Given the description of an element on the screen output the (x, y) to click on. 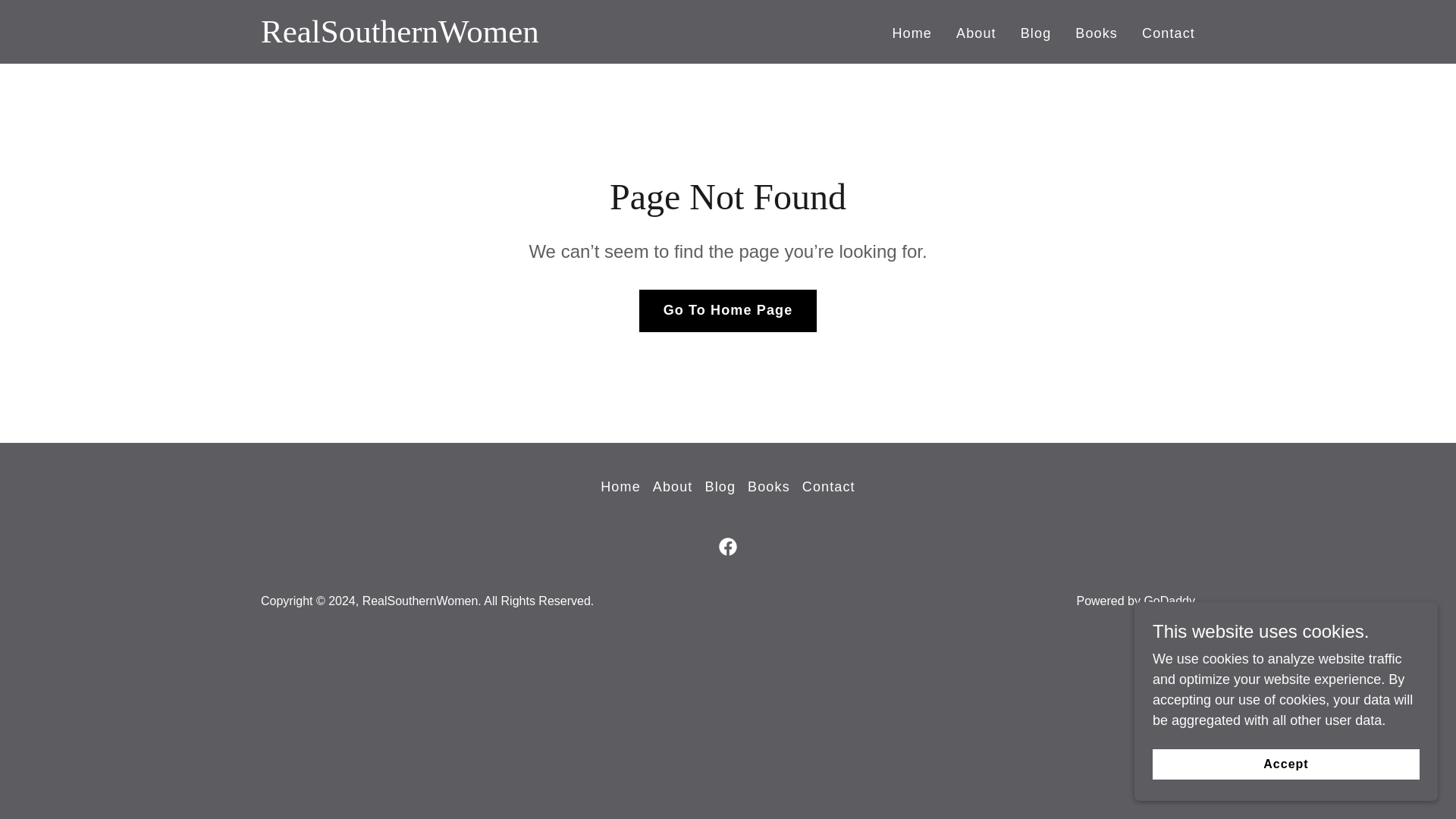
RealSouthernWomen (399, 37)
Blog (1036, 32)
Accept (1286, 764)
About (672, 487)
GoDaddy (1168, 600)
Go To Home Page (727, 310)
About (976, 32)
Blog (720, 487)
Contact (1168, 32)
Home (911, 32)
